Given the description of an element on the screen output the (x, y) to click on. 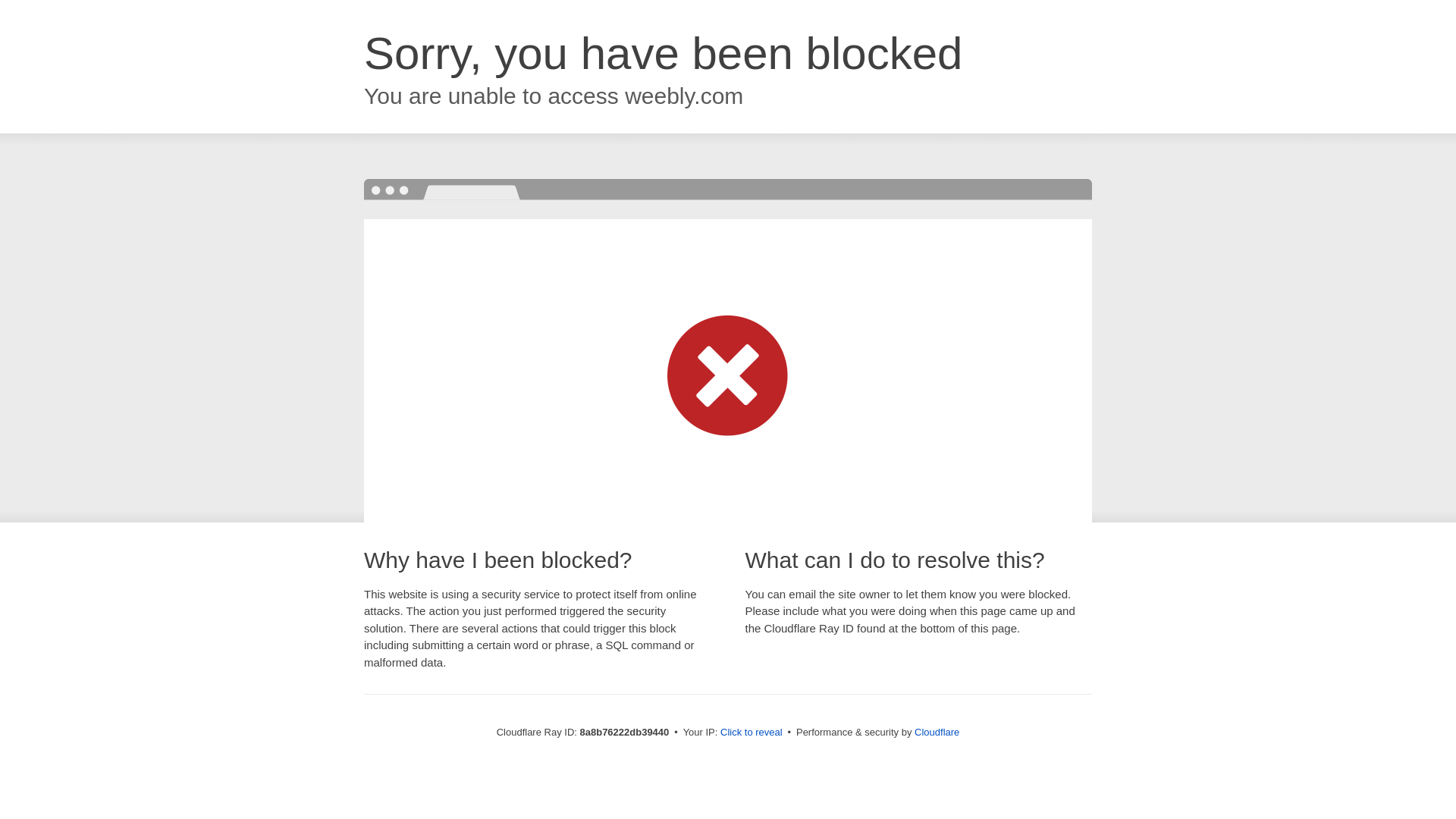
Click to reveal (751, 732)
Cloudflare (936, 731)
